Given the description of an element on the screen output the (x, y) to click on. 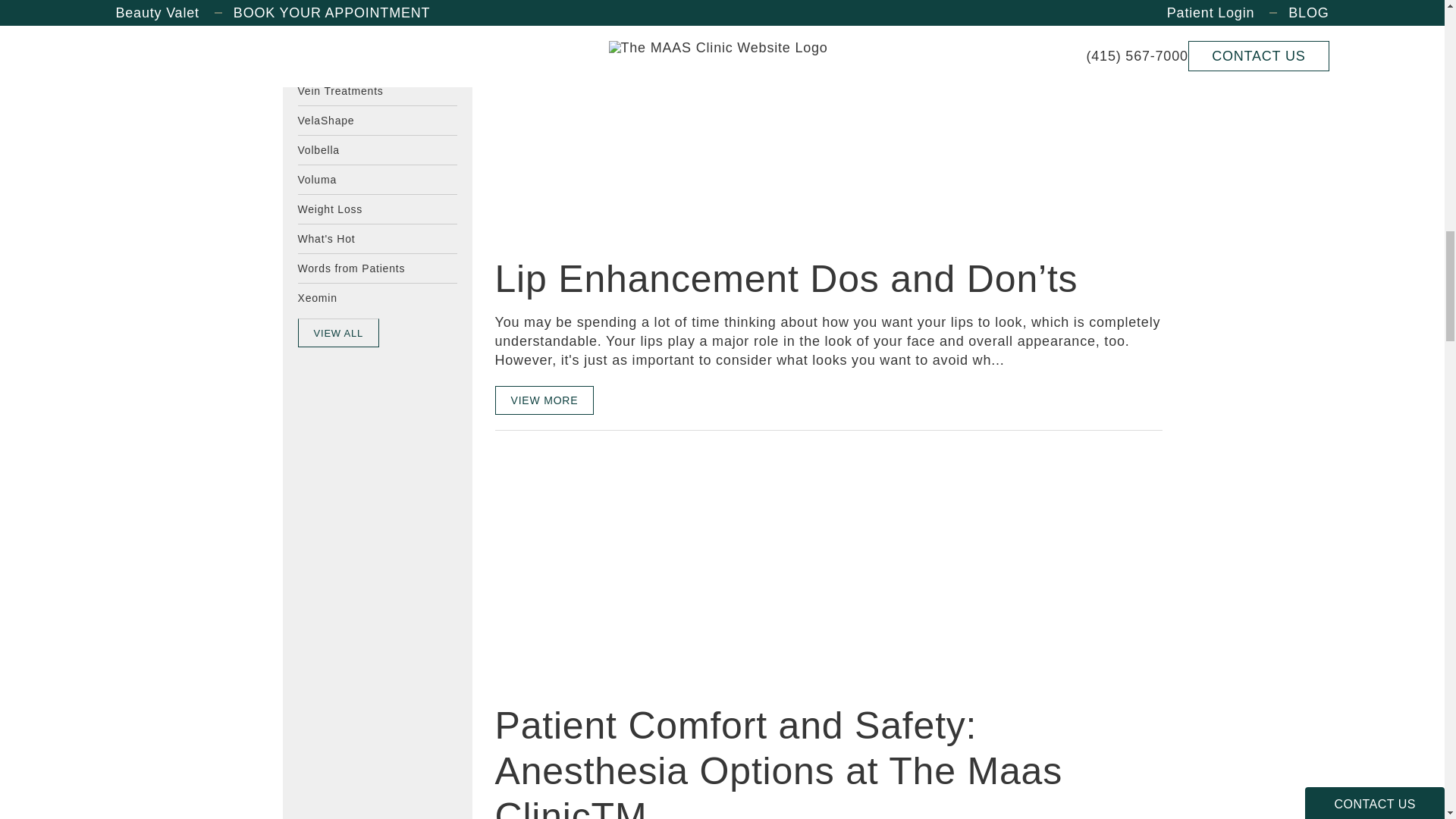
View full blog article (544, 399)
View blog article (608, 565)
View blog article (608, 120)
